Given the description of an element on the screen output the (x, y) to click on. 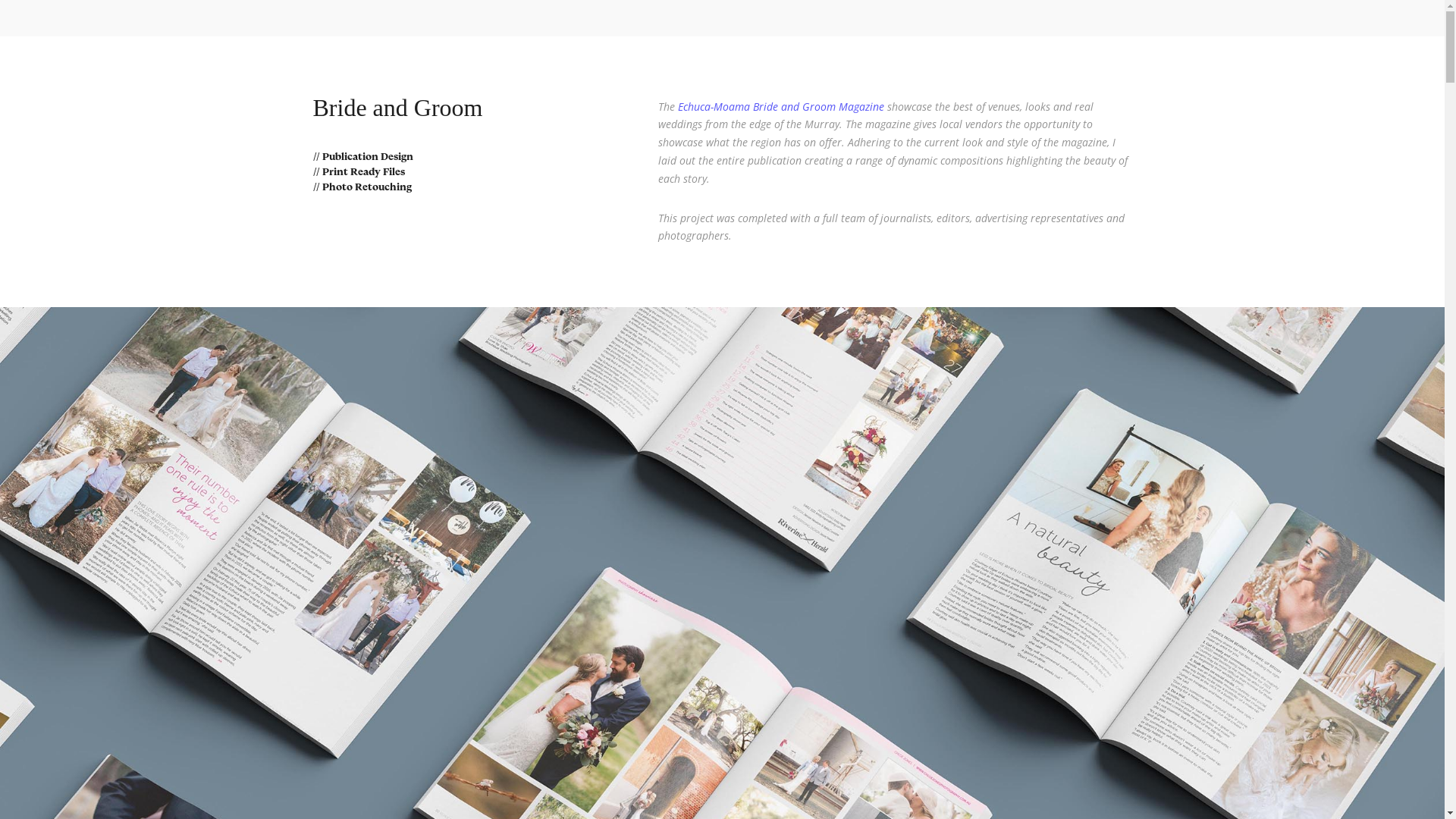
Echuca-Moama Bride and Groom Magazine Element type: text (780, 106)
